Given the description of an element on the screen output the (x, y) to click on. 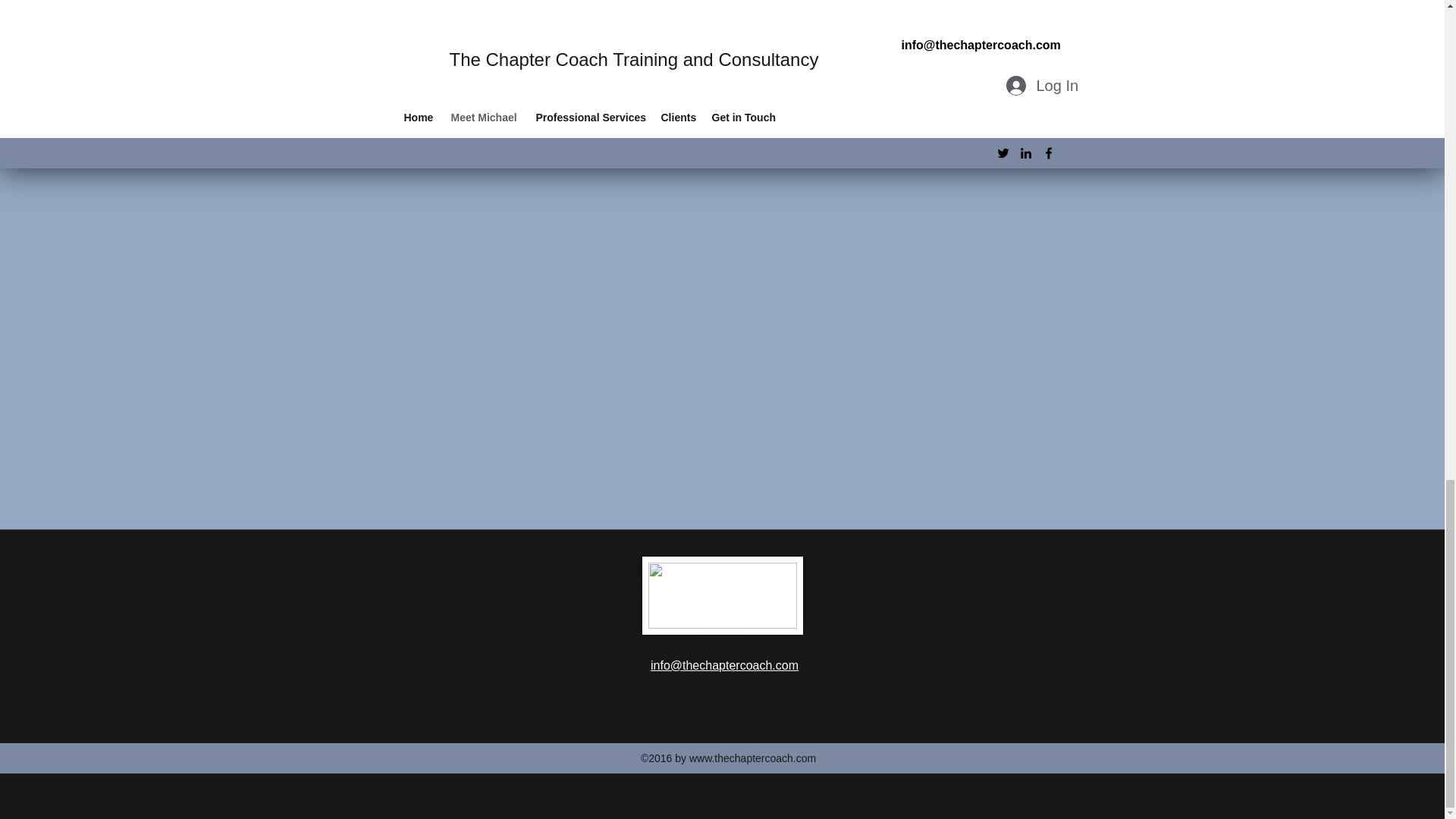
ICF-logo.png (722, 595)
www.thechaptercoach.com (751, 758)
